Given the description of an element on the screen output the (x, y) to click on. 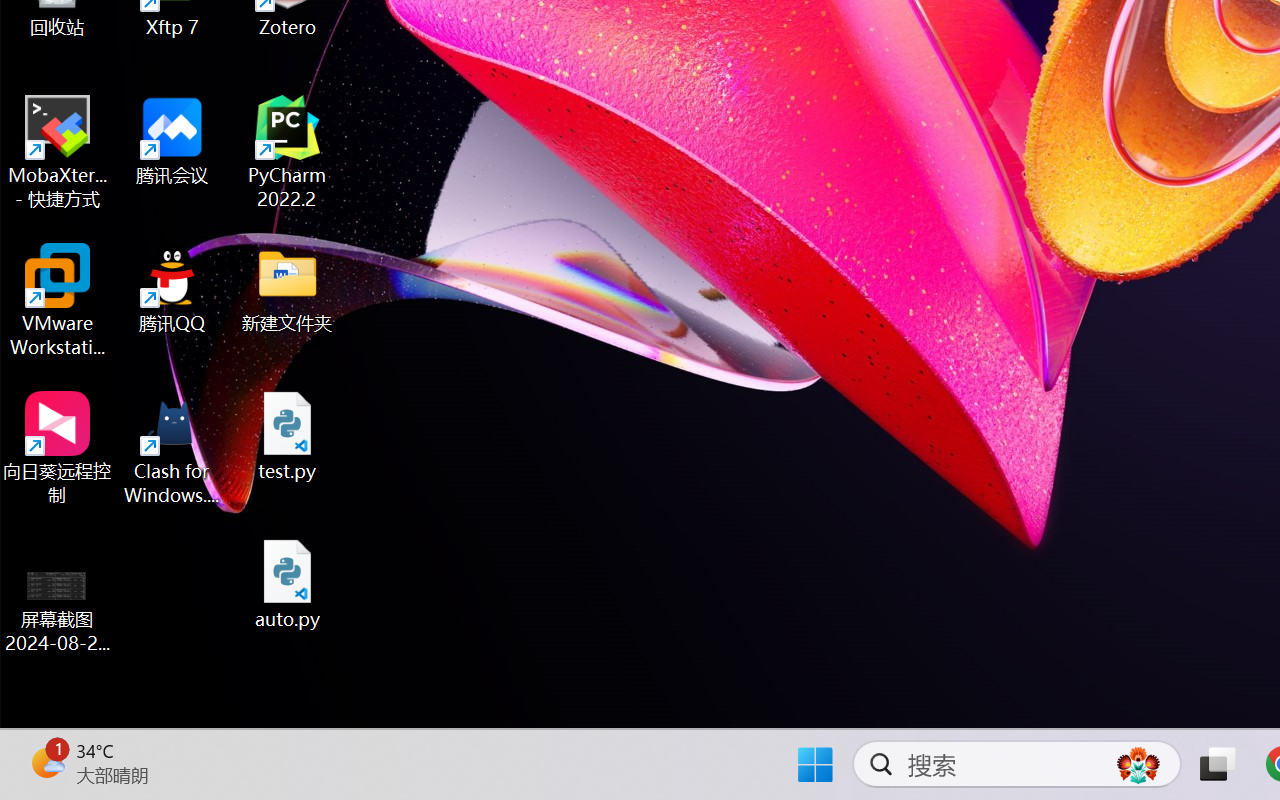
VMware Workstation Pro (57, 300)
